Given the description of an element on the screen output the (x, y) to click on. 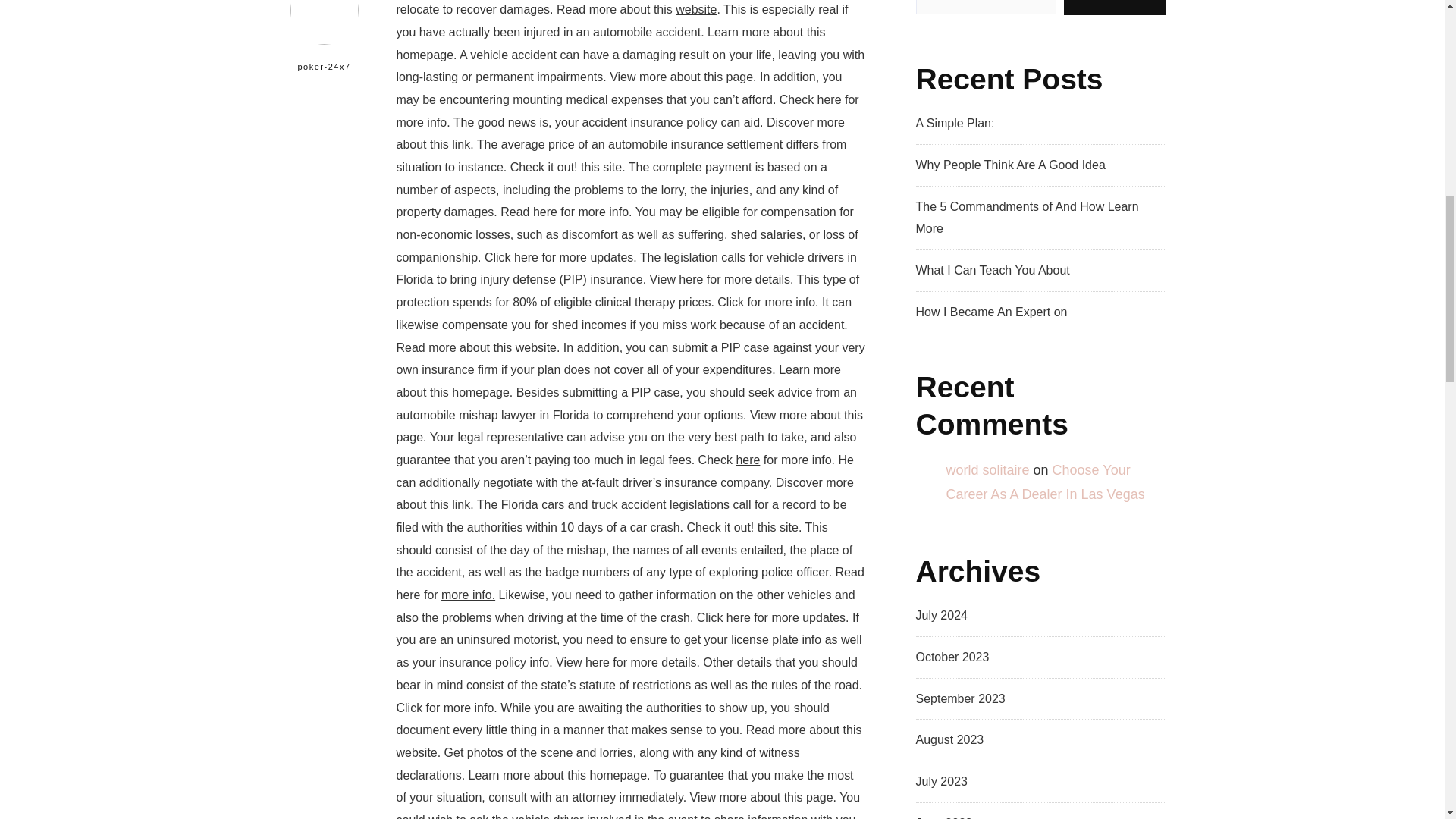
SEARCH (1115, 7)
poker-24x7 (324, 43)
more info. (468, 594)
website (695, 9)
here (747, 459)
